Given the description of an element on the screen output the (x, y) to click on. 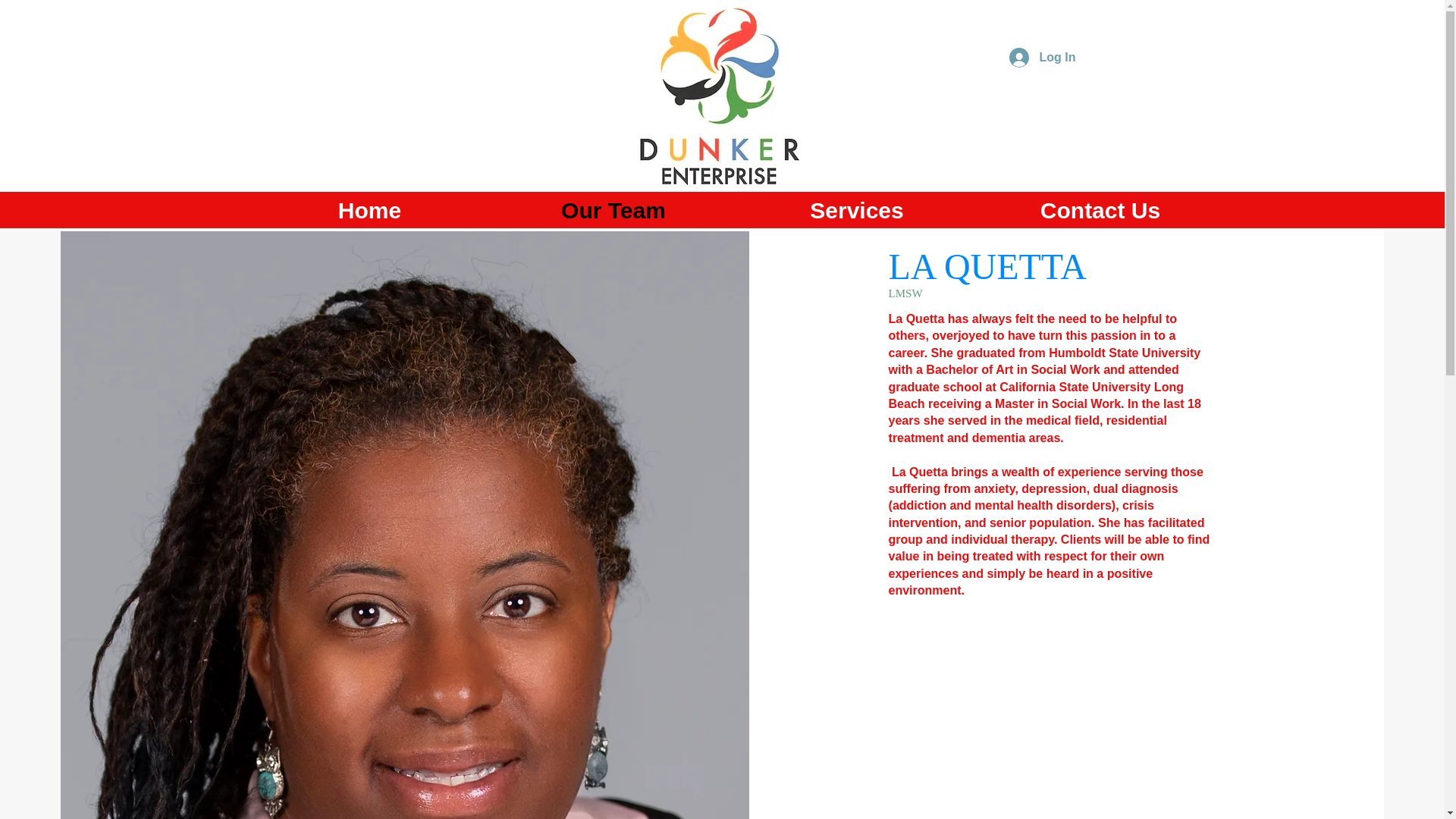
Log In (1042, 57)
Services (856, 209)
Our Team (613, 209)
Contact Us (1099, 209)
Home (369, 209)
